Given the description of an element on the screen output the (x, y) to click on. 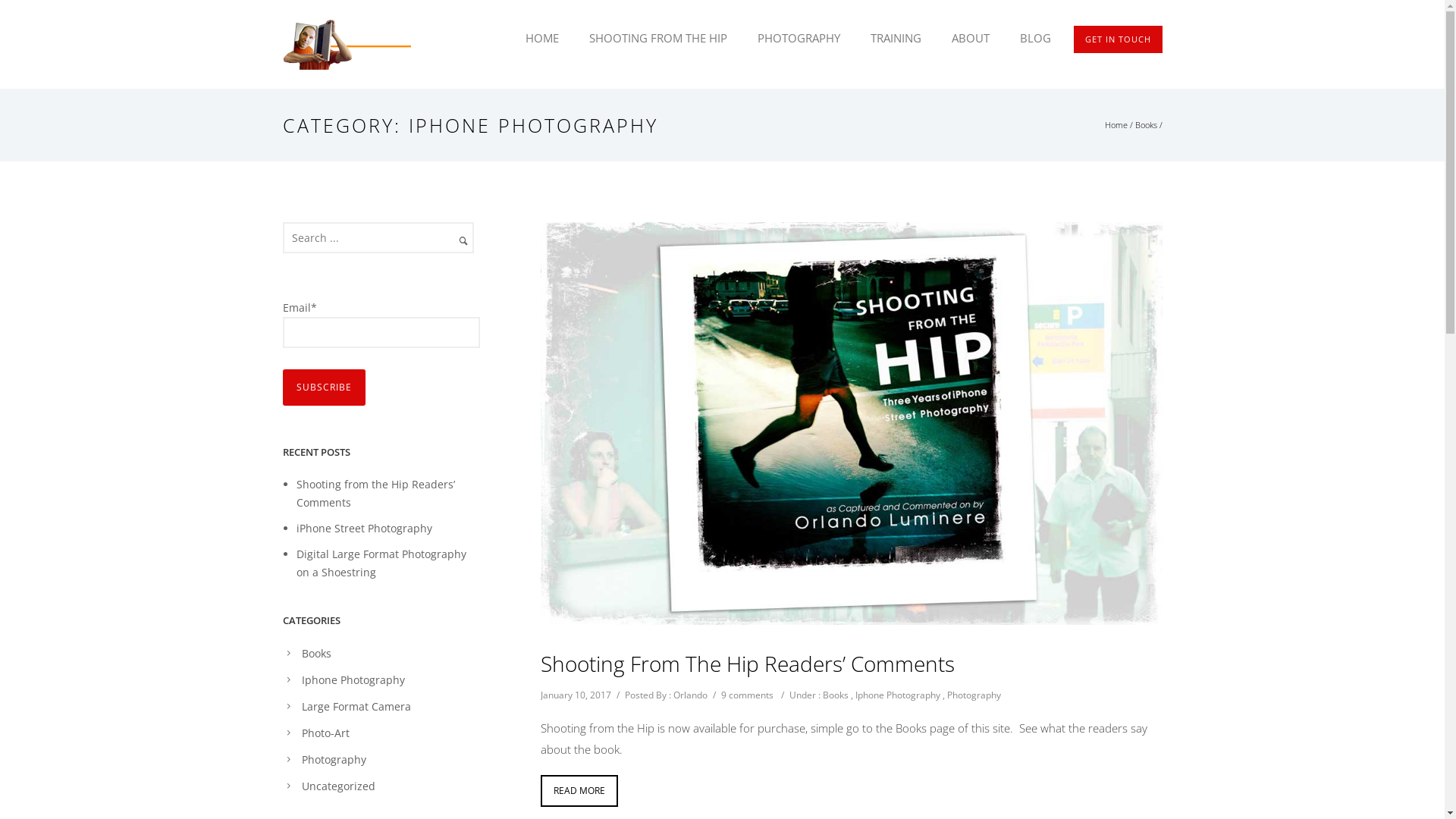
BLOG Element type: text (1027, 37)
Large Format Camera Element type: text (356, 706)
Books Element type: text (1145, 124)
PHOTOGRAPHY Element type: text (797, 37)
HOME Element type: text (541, 37)
Iphone Photography Element type: text (897, 694)
TRAINING Element type: text (895, 37)
Iphone Photography Element type: text (352, 679)
Photography Element type: text (973, 694)
iPhone Street Photography Element type: text (364, 527)
GET IN TOUCH Element type: text (1117, 39)
Digital Large Format Photography on a Shoestring Element type: text (381, 562)
SHOOTING FROM THE HIP Element type: text (657, 37)
Photo-Art Element type: text (325, 732)
Books Element type: text (834, 694)
Books Element type: text (316, 653)
READ MORE Element type: text (578, 790)
Home Element type: text (1115, 124)
ABOUT Element type: text (969, 37)
Subscribe Element type: text (323, 387)
9 comments Element type: text (746, 694)
Uncategorized Element type: text (338, 785)
Photography Element type: text (333, 759)
